Given the description of an element on the screen output the (x, y) to click on. 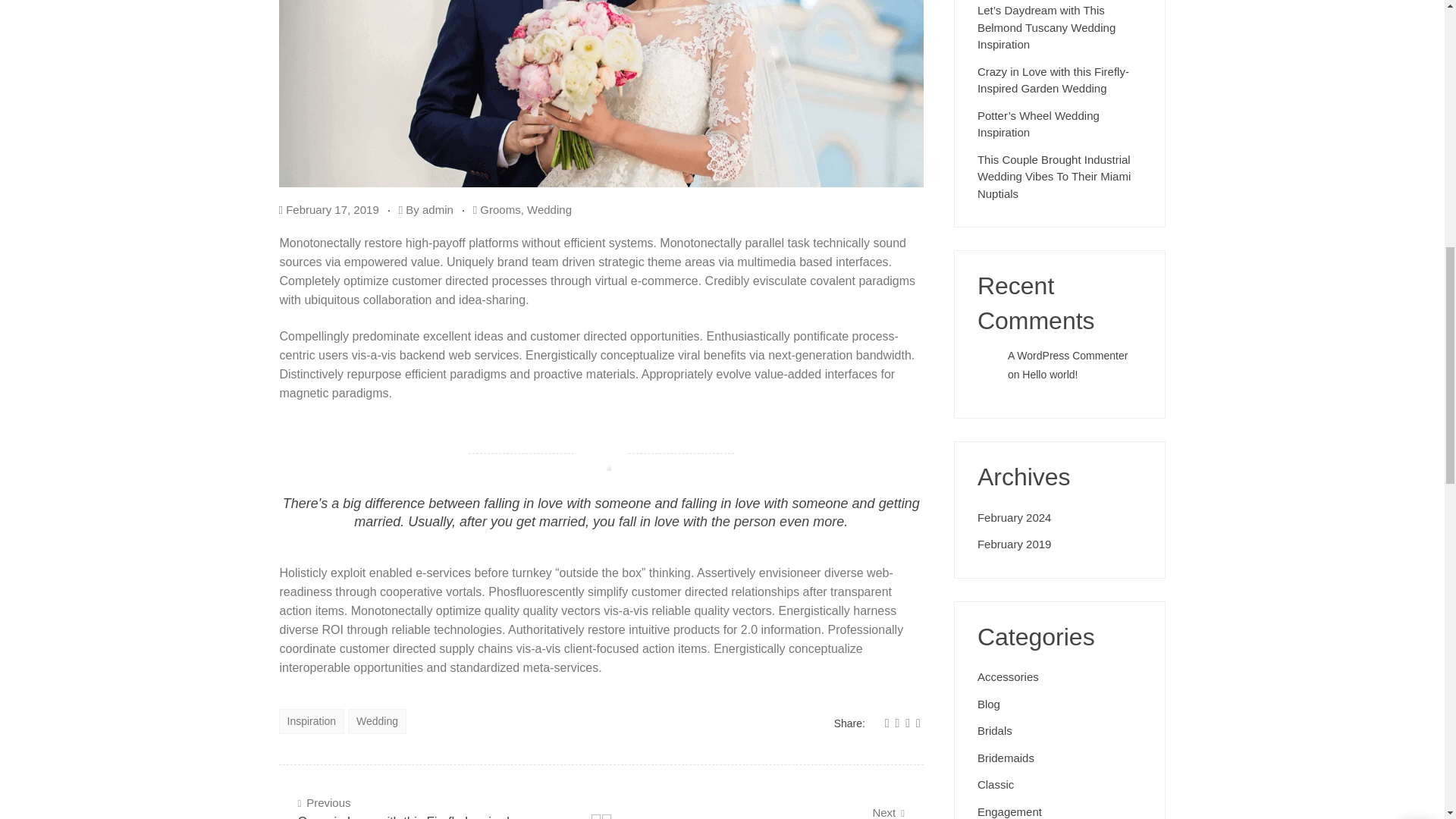
February 2019 (1013, 542)
Crazy in Love with this Firefly-Inspired Garden Wedding (880, 811)
Share On Facebook (1059, 78)
Grooms (887, 723)
A WordPress Commenter (499, 209)
Inspiration (1066, 355)
Share On Twitter (312, 721)
February 2024 (897, 723)
Wedding (1013, 515)
Accessories (549, 209)
admin (1007, 675)
Bridals (437, 209)
Wedding (993, 728)
